Given the description of an element on the screen output the (x, y) to click on. 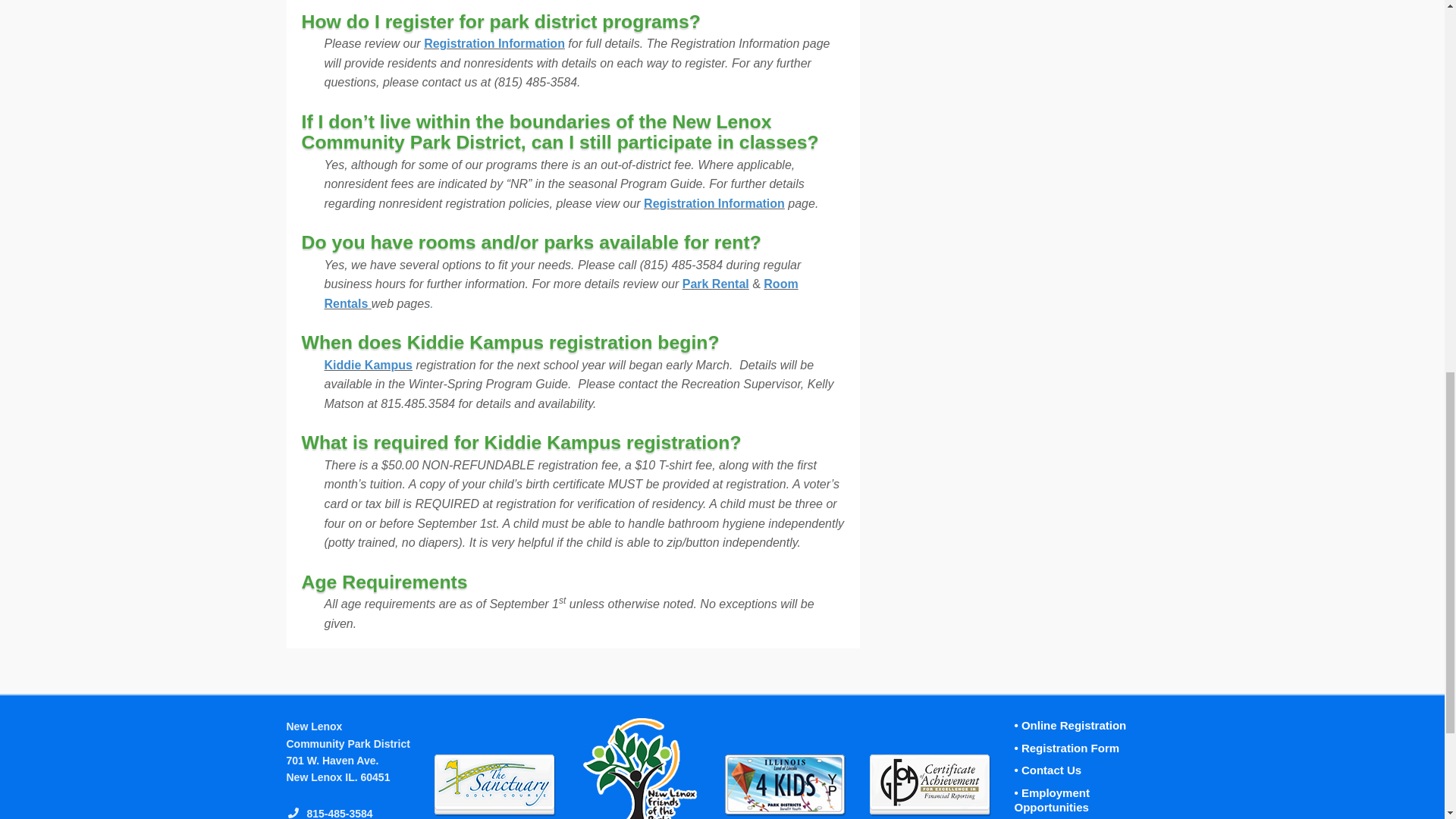
Illinois 4 Kids (785, 785)
The Sanctuary Golf Course (494, 785)
New Lenox Friends of the Parks (640, 768)
